Given the description of an element on the screen output the (x, y) to click on. 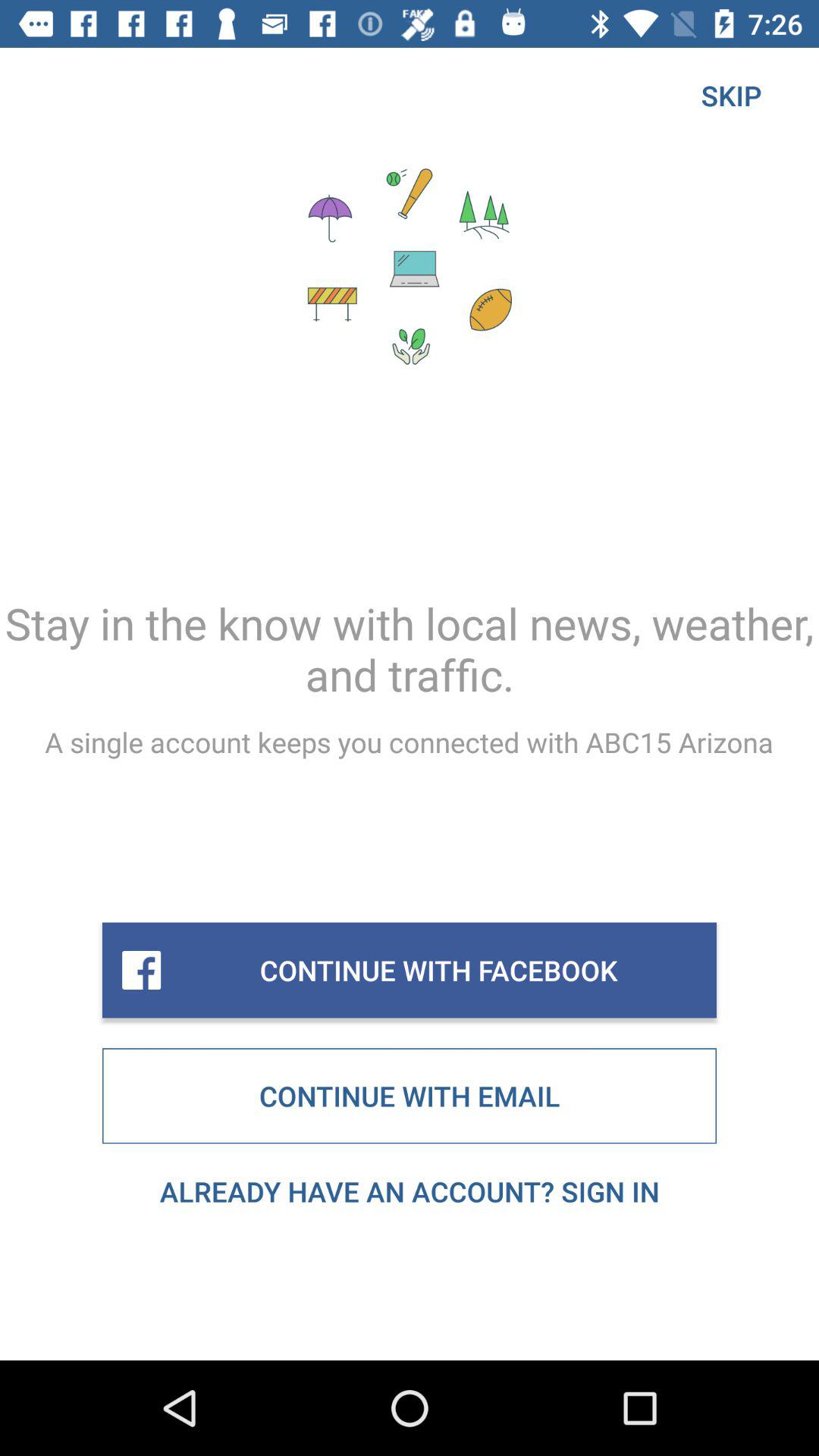
jump to the already have an icon (409, 1191)
